Given the description of an element on the screen output the (x, y) to click on. 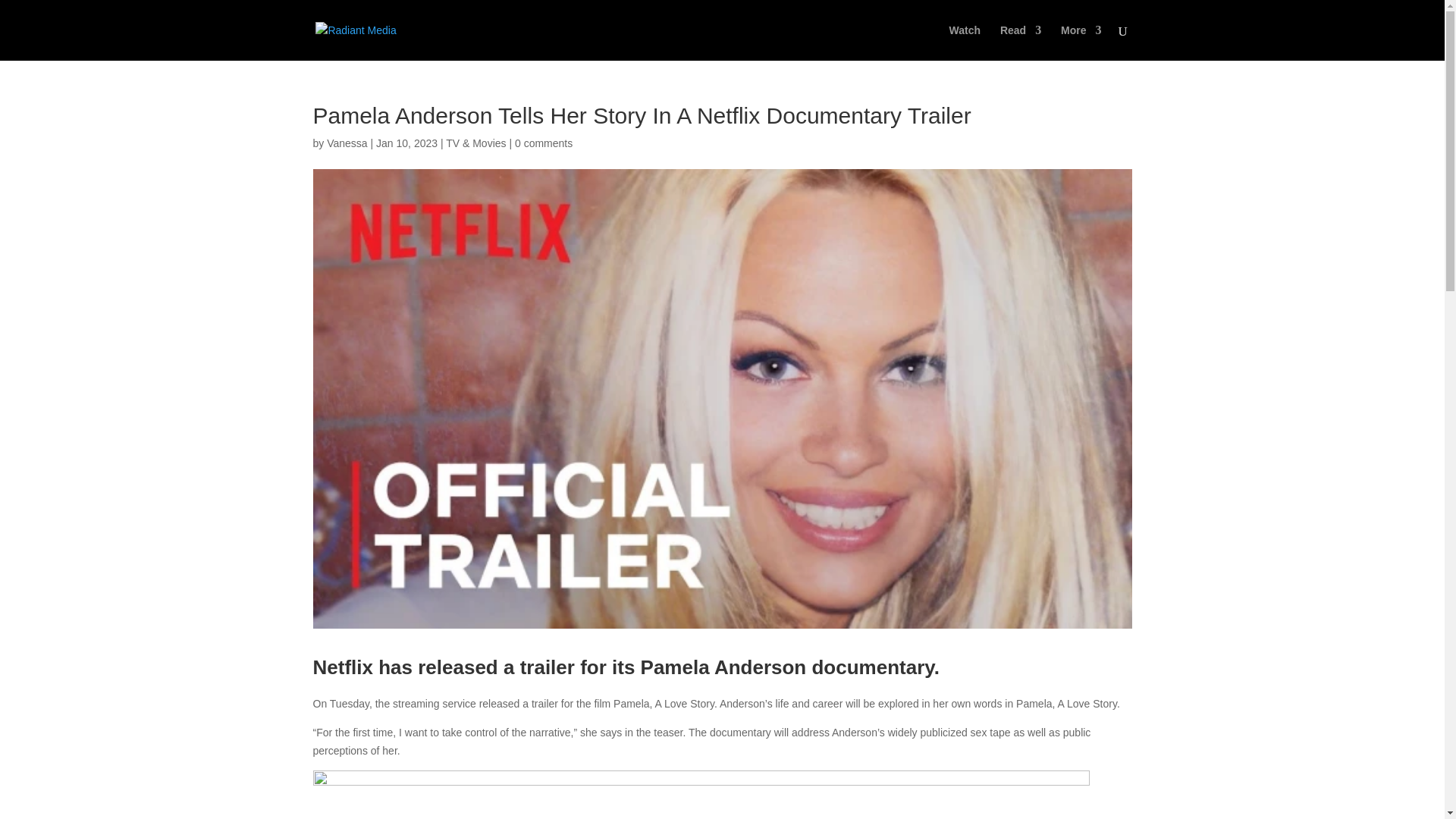
Read (1020, 42)
More (1080, 42)
Posts by Vanessa (346, 143)
0 comments (543, 143)
Vanessa (346, 143)
